Given the description of an element on the screen output the (x, y) to click on. 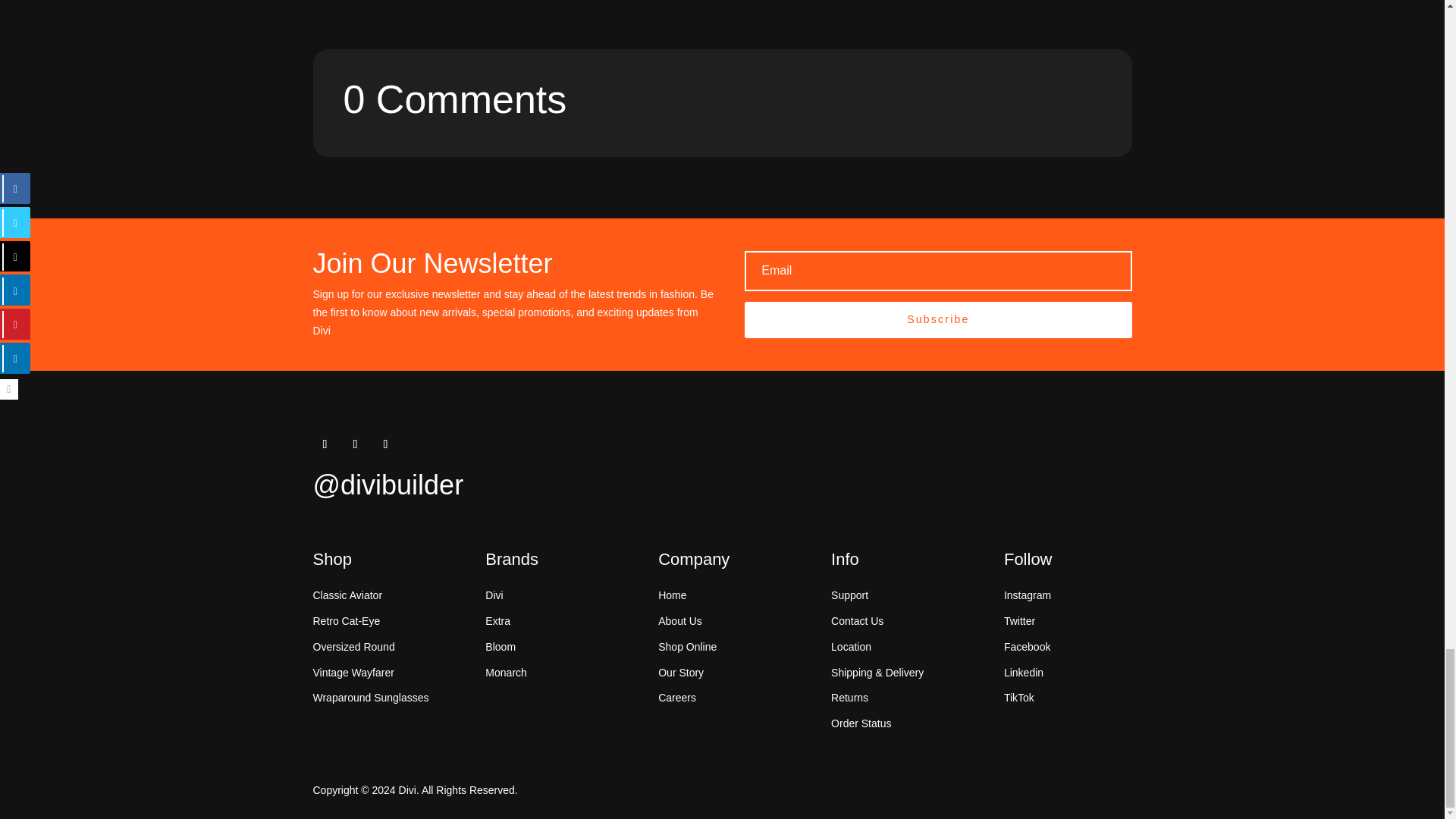
Oversized Round (353, 646)
Follow on Facebook (324, 444)
Wraparound Sunglasses (370, 697)
Vintage Wayfarer (353, 672)
Follow on X (354, 444)
Divi (493, 594)
Classic Aviator (347, 594)
Subscribe (937, 320)
Extra (497, 621)
Bloom (499, 646)
